Given the description of an element on the screen output the (x, y) to click on. 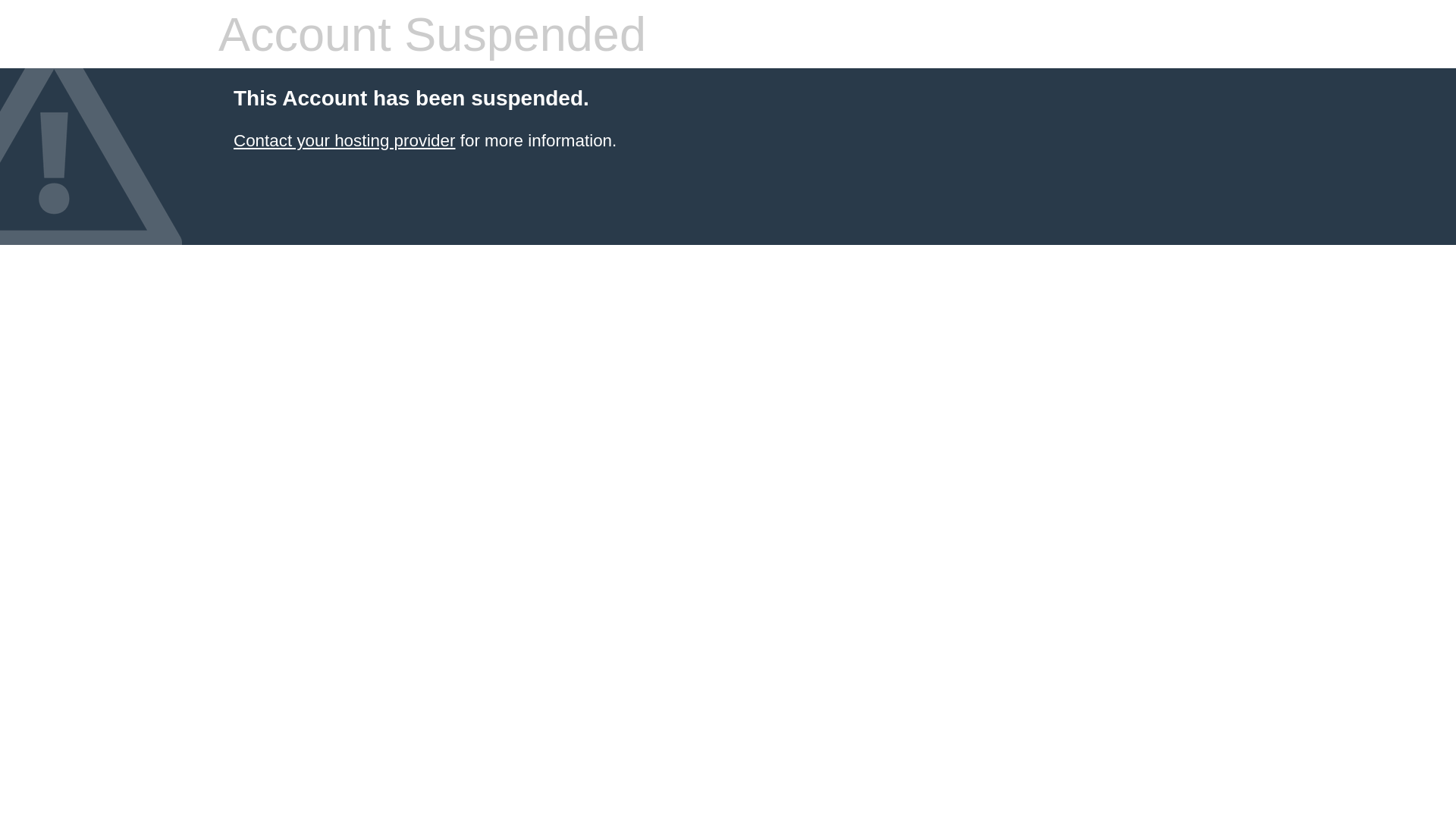
Contact your hosting provider Element type: text (344, 140)
